Given the description of an element on the screen output the (x, y) to click on. 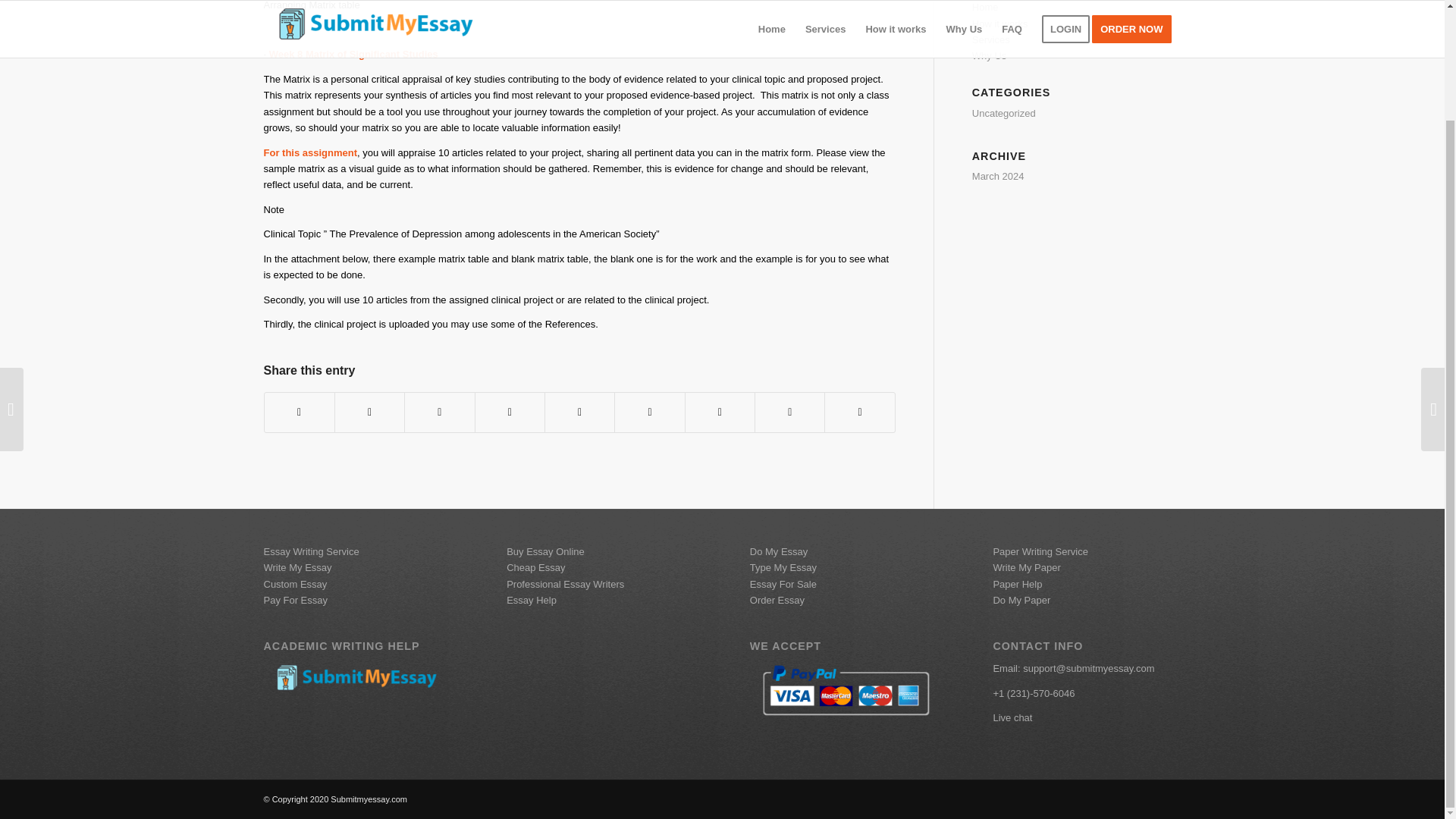
Week 8 Matrix of Significant Studies (353, 53)
How it works (999, 23)
Uncategorized (1003, 112)
Why Us (989, 55)
March 2024 (998, 175)
Home (985, 7)
Services (991, 39)
